Given the description of an element on the screen output the (x, y) to click on. 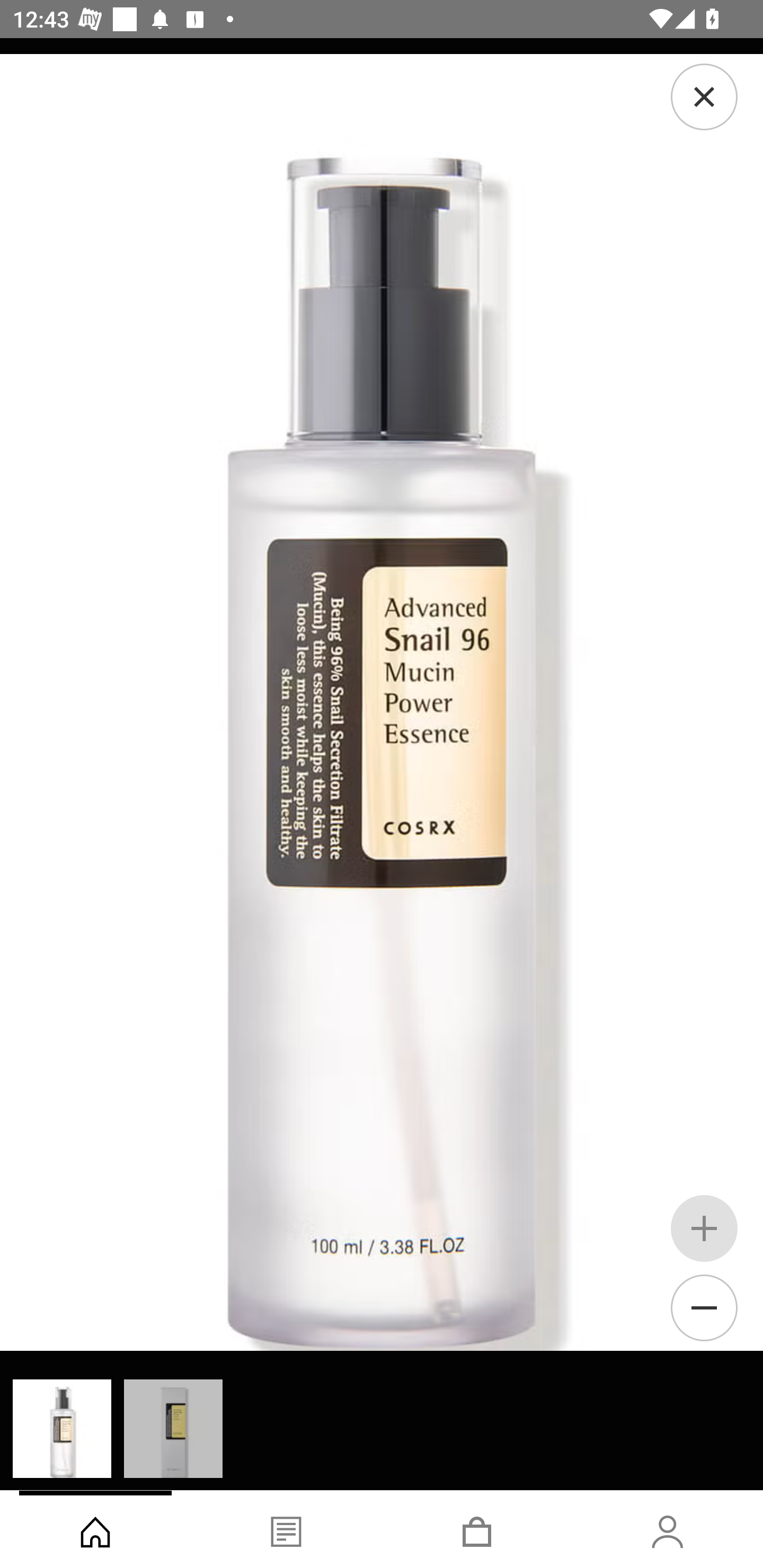
Close (703, 96)
Zoom in (703, 1228)
Zoom out (703, 1307)
Shop, tab, 1 of 4 (95, 1529)
Blog, tab, 2 of 4 (285, 1529)
Basket, tab, 3 of 4 (476, 1529)
Account, tab, 4 of 4 (667, 1529)
